Given the description of an element on the screen output the (x, y) to click on. 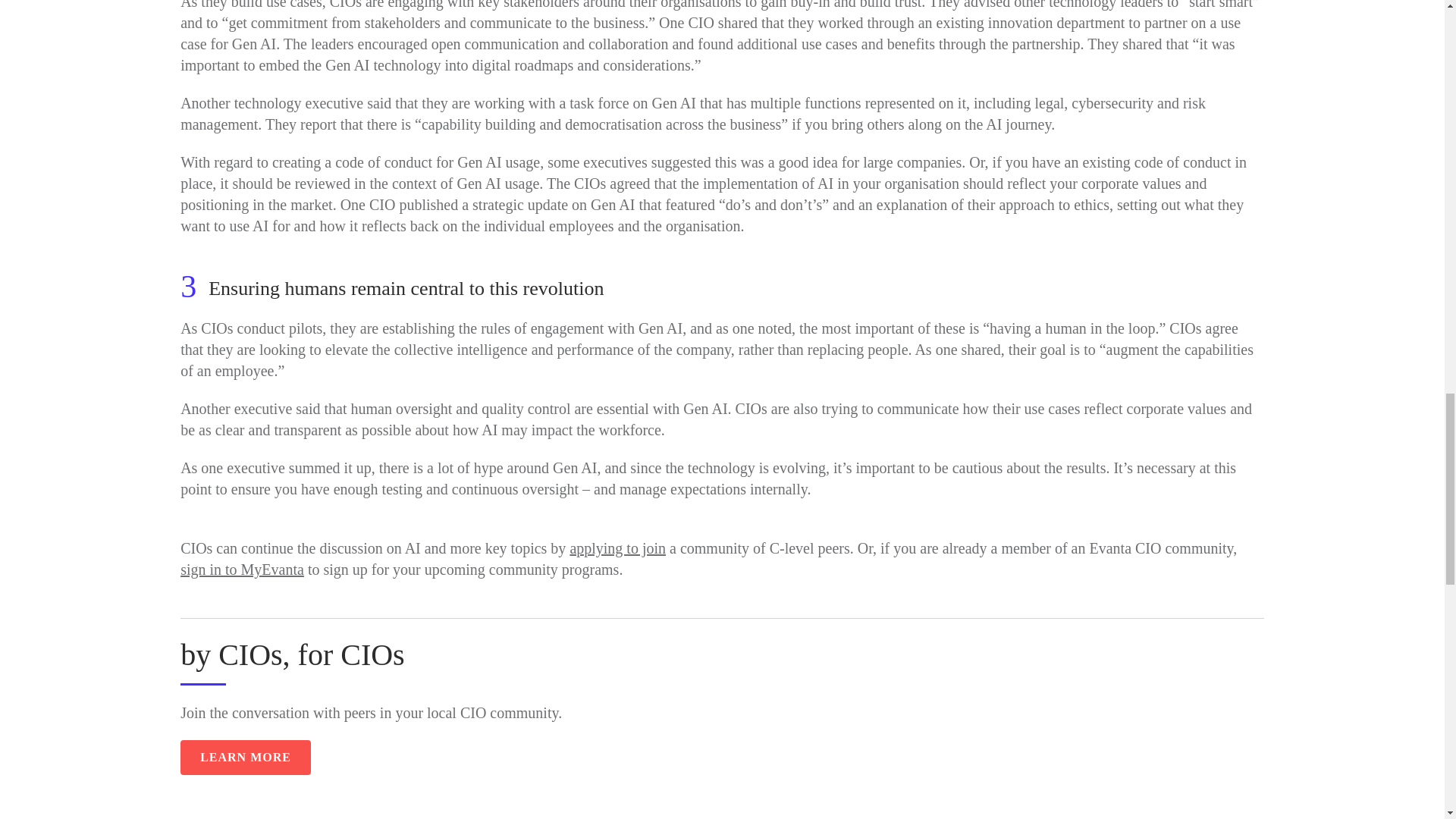
applying to join (617, 547)
LEARN MORE (245, 757)
sign in to MyEvanta (242, 569)
